Given the description of an element on the screen output the (x, y) to click on. 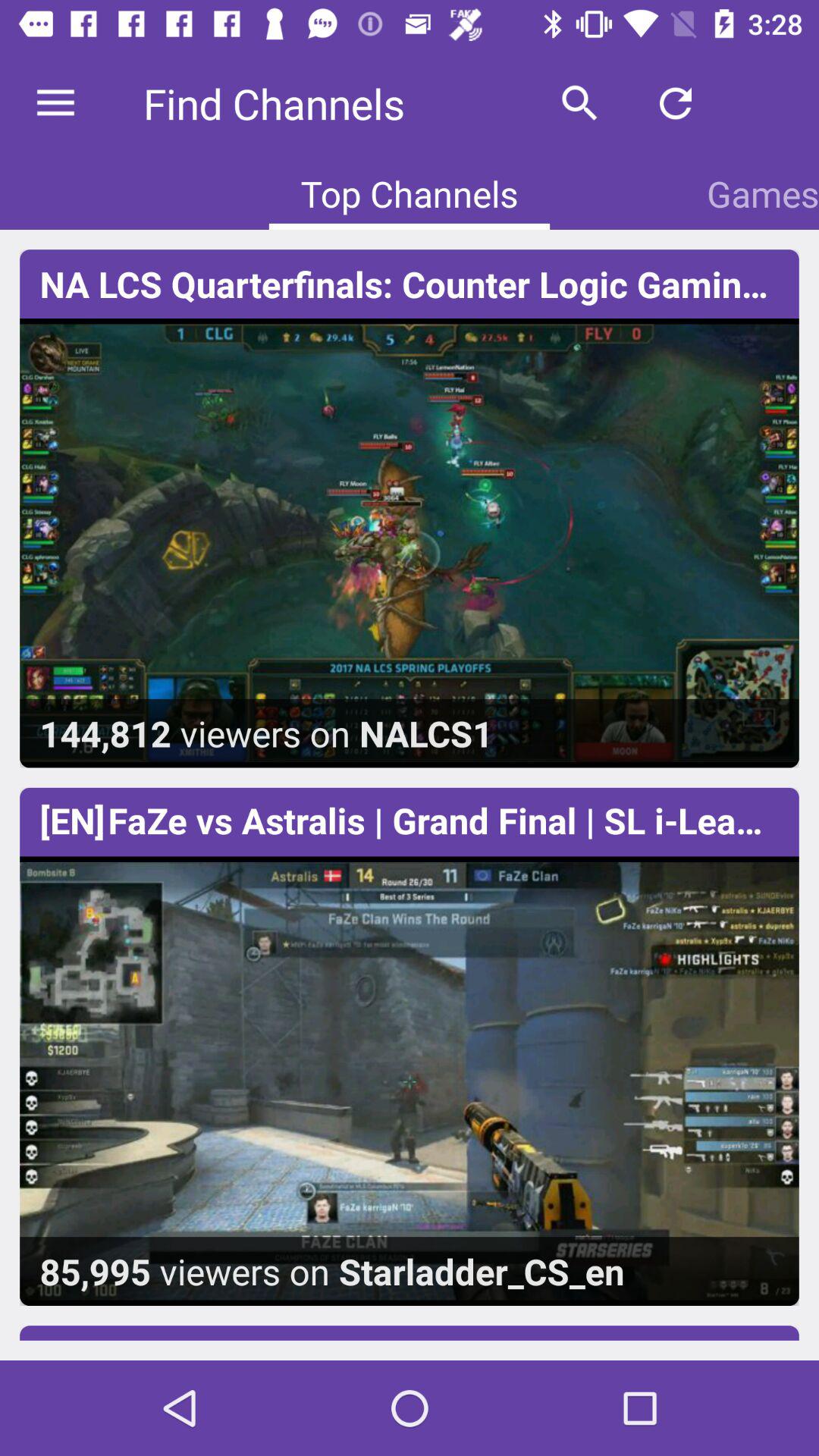
tap the item above the games app (771, 103)
